Given the description of an element on the screen output the (x, y) to click on. 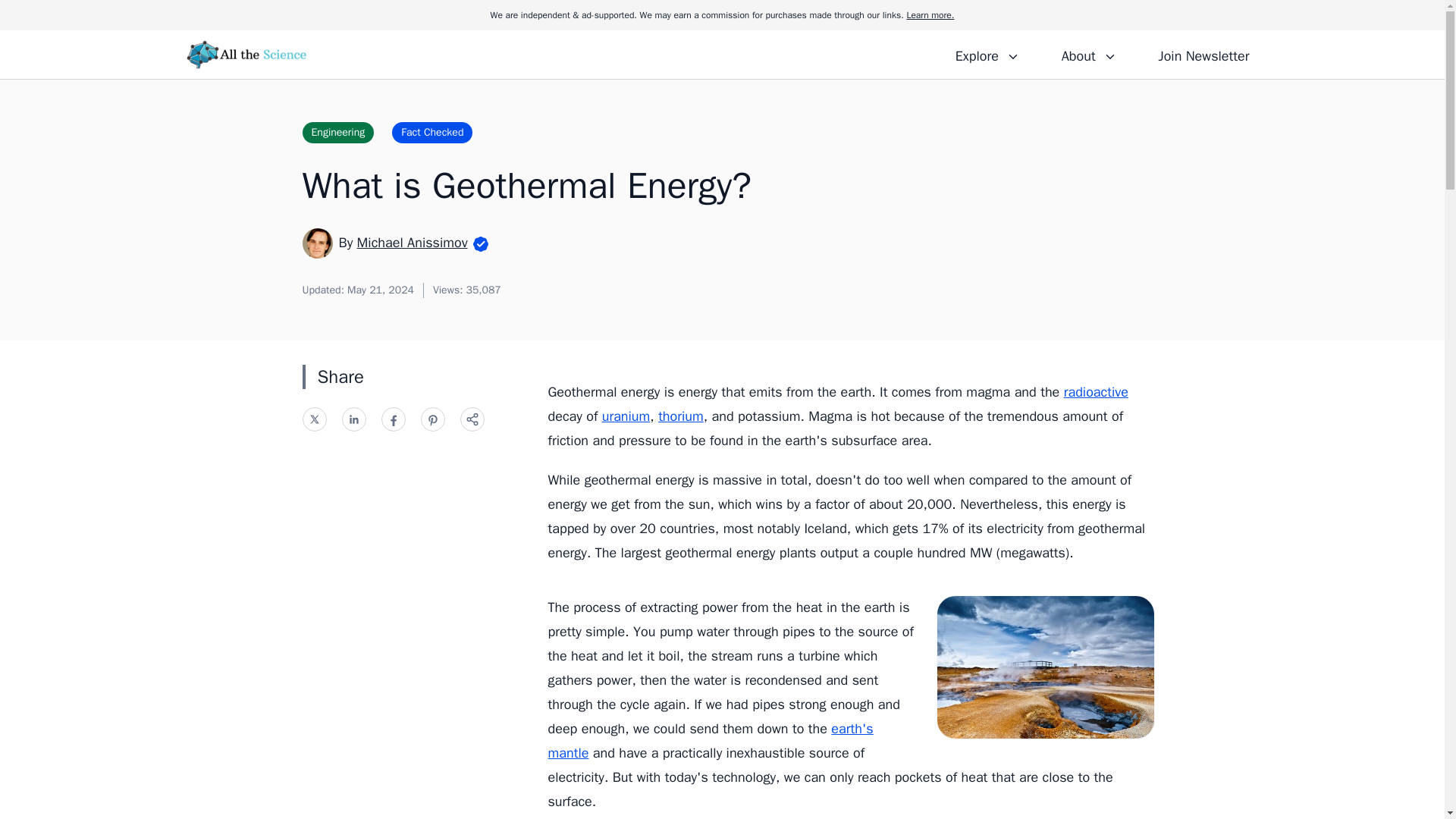
About (1088, 54)
Learn more. (929, 15)
Explore (986, 54)
Engineering (337, 132)
uranium (626, 416)
Fact Checked (431, 132)
thorium (680, 416)
Michael Anissimov (411, 242)
radioactive (1096, 392)
Join Newsletter (1202, 54)
earth's mantle (709, 740)
